Given the description of an element on the screen output the (x, y) to click on. 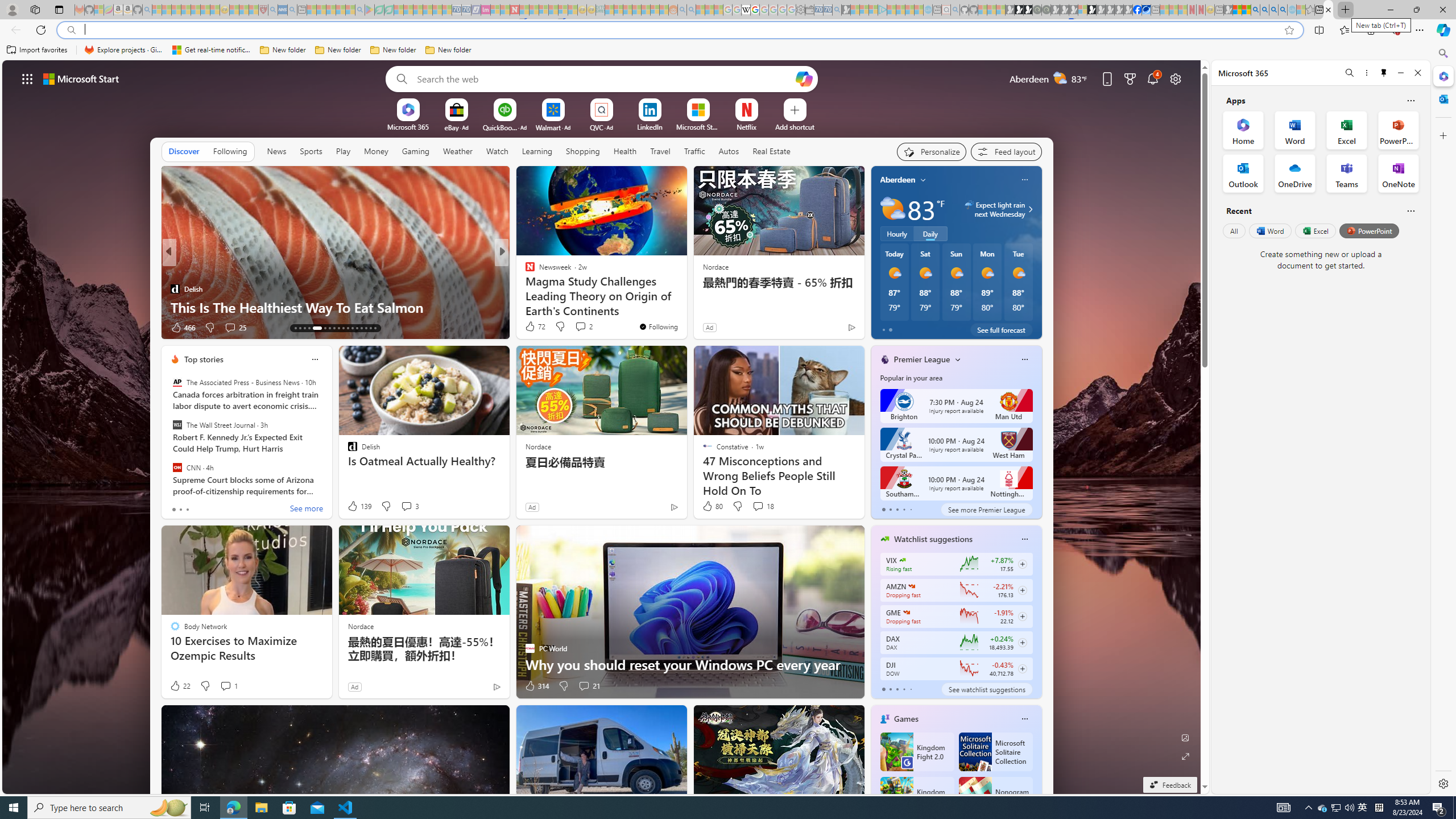
google - Search - Sleeping (359, 9)
AutomationID: tab-28 (370, 328)
Body Network (524, 270)
Page settings (1175, 78)
Games (905, 718)
tab-2 (897, 689)
View comments 2 Comment (582, 326)
93 Like (530, 327)
View comments 21 Comment (583, 685)
AutomationID: tab-25 (356, 328)
Shopping (582, 151)
